Given the description of an element on the screen output the (x, y) to click on. 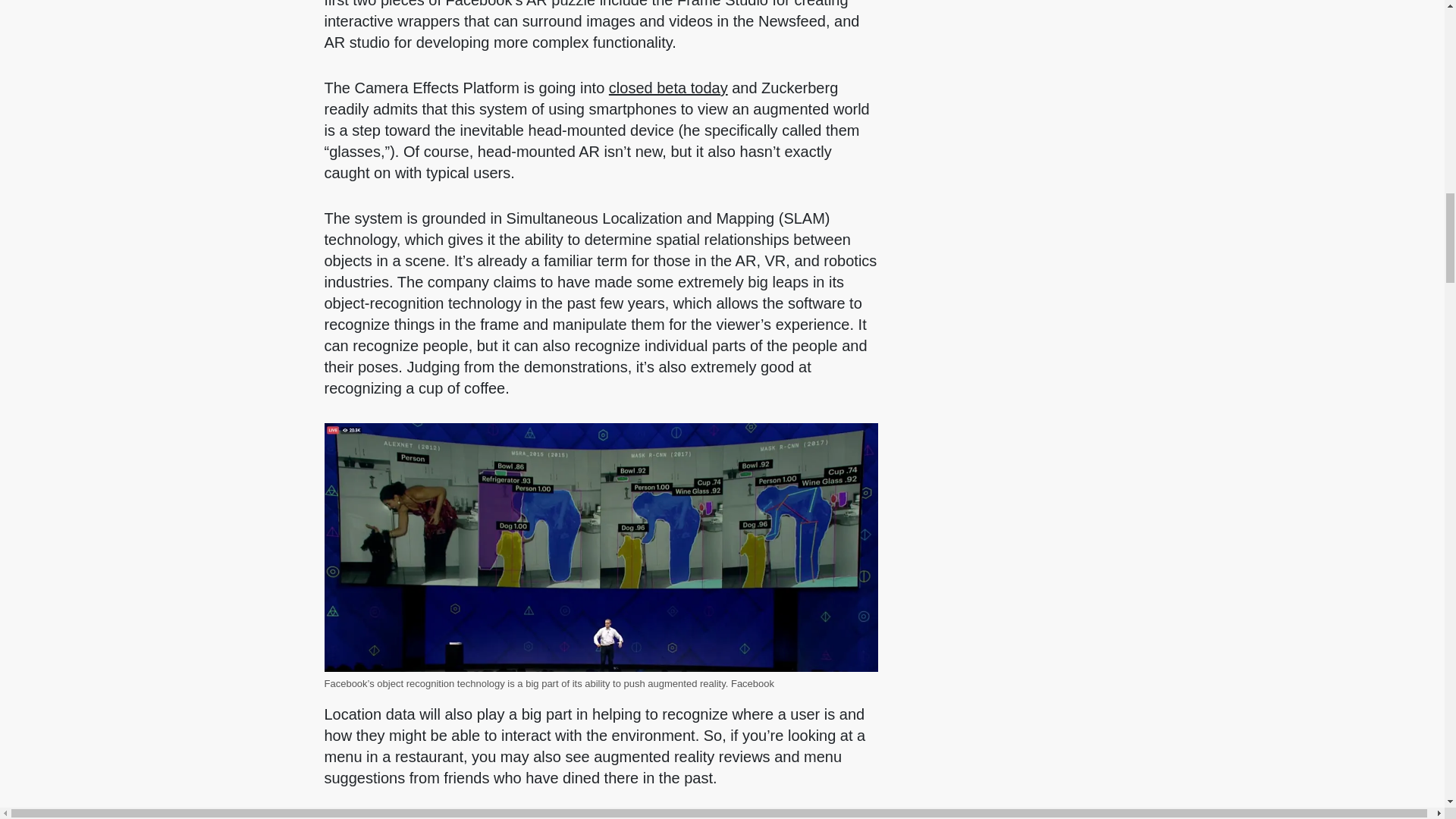
3rd party ad content (1165, 810)
